Given the description of an element on the screen output the (x, y) to click on. 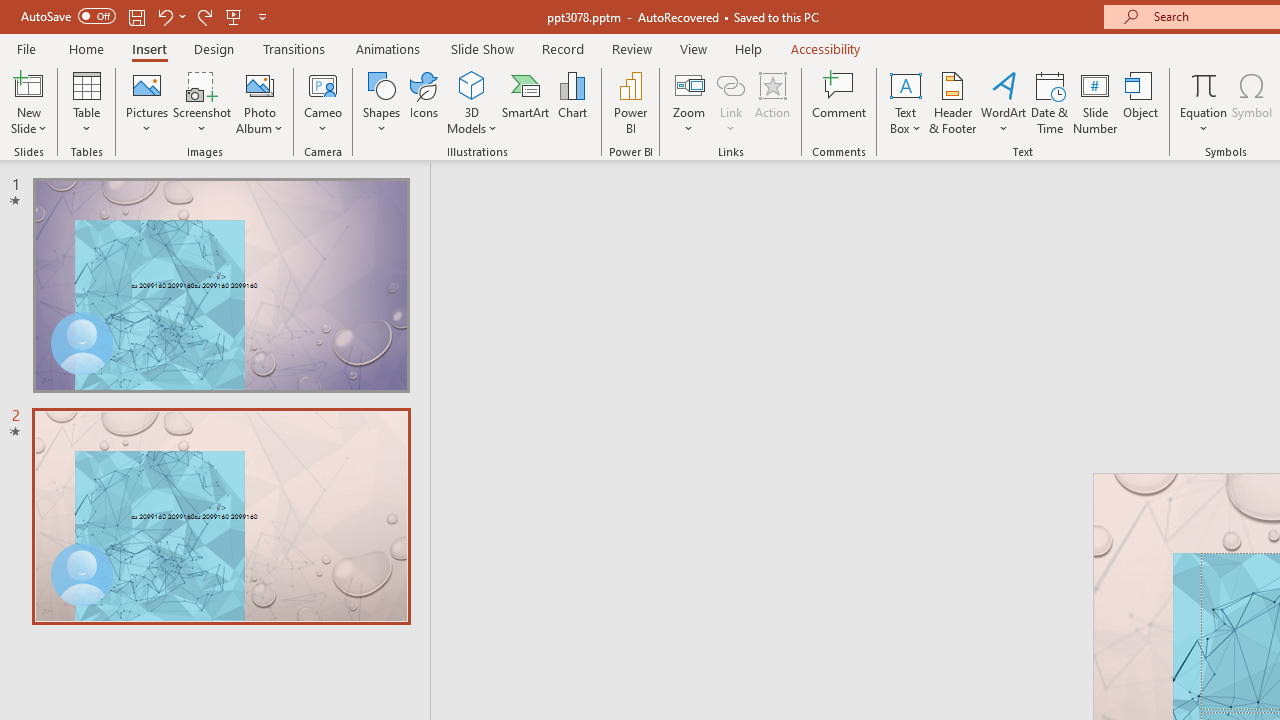
Photo Album... (259, 102)
Action (772, 102)
Chart... (572, 102)
Slide Number (1095, 102)
Table (86, 102)
Header & Footer... (952, 102)
